Given the description of an element on the screen output the (x, y) to click on. 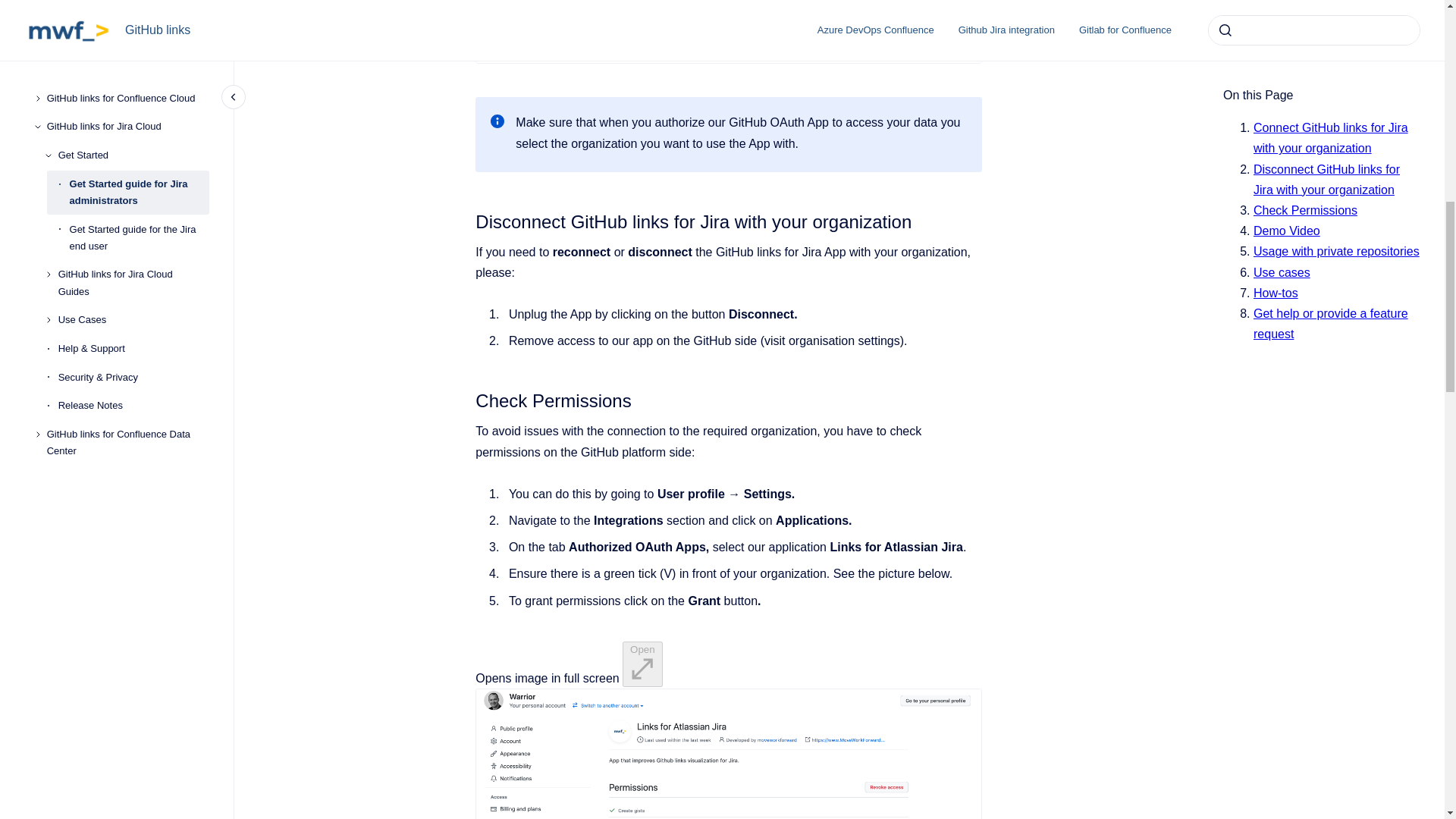
Copy to clipboard (468, 219)
Copy to clipboard (468, 399)
